Given the description of an element on the screen output the (x, y) to click on. 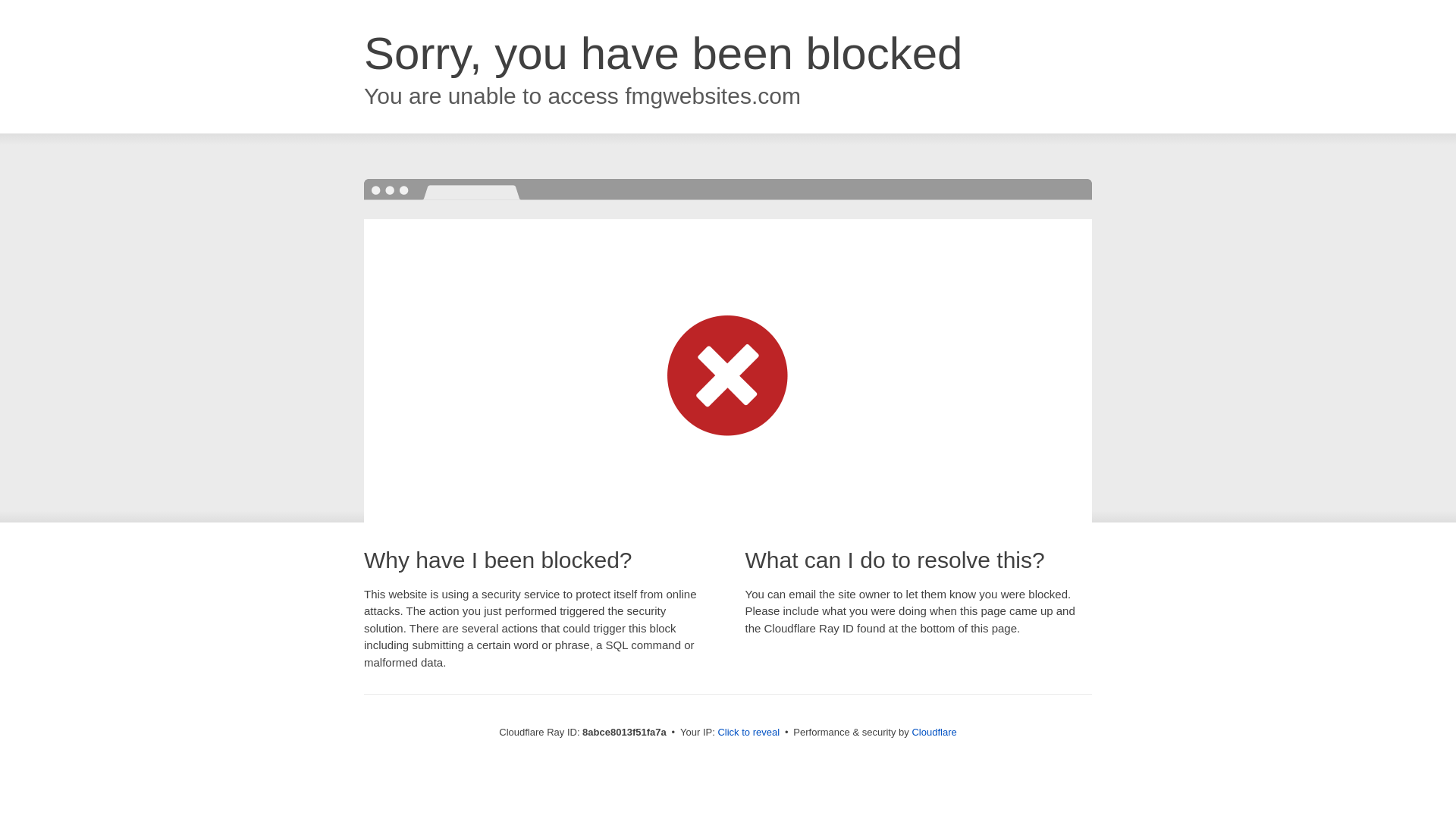
Click to reveal (747, 732)
Cloudflare (933, 731)
